Given the description of an element on the screen output the (x, y) to click on. 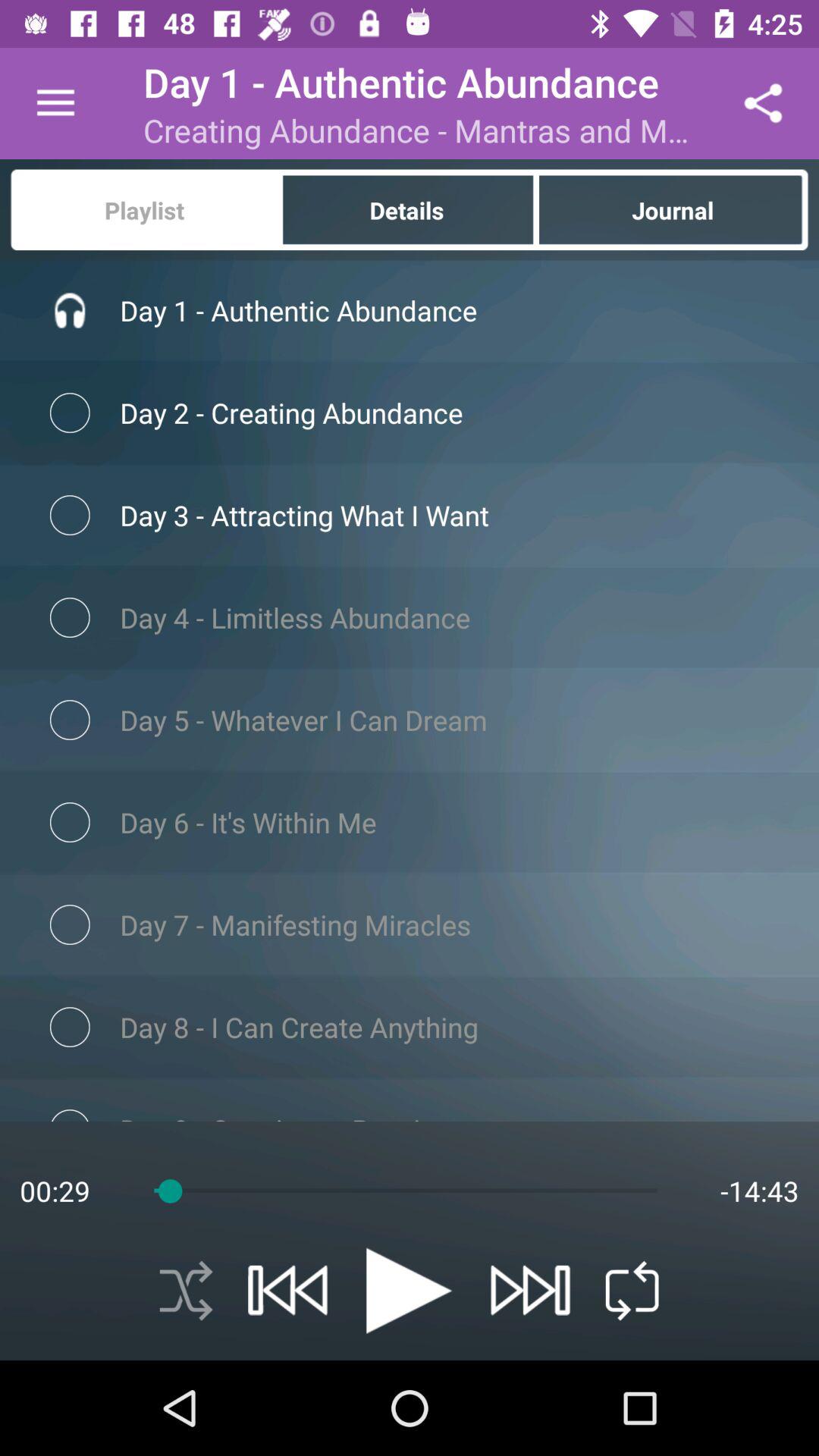
turn off the item next to the details (143, 209)
